Given the description of an element on the screen output the (x, y) to click on. 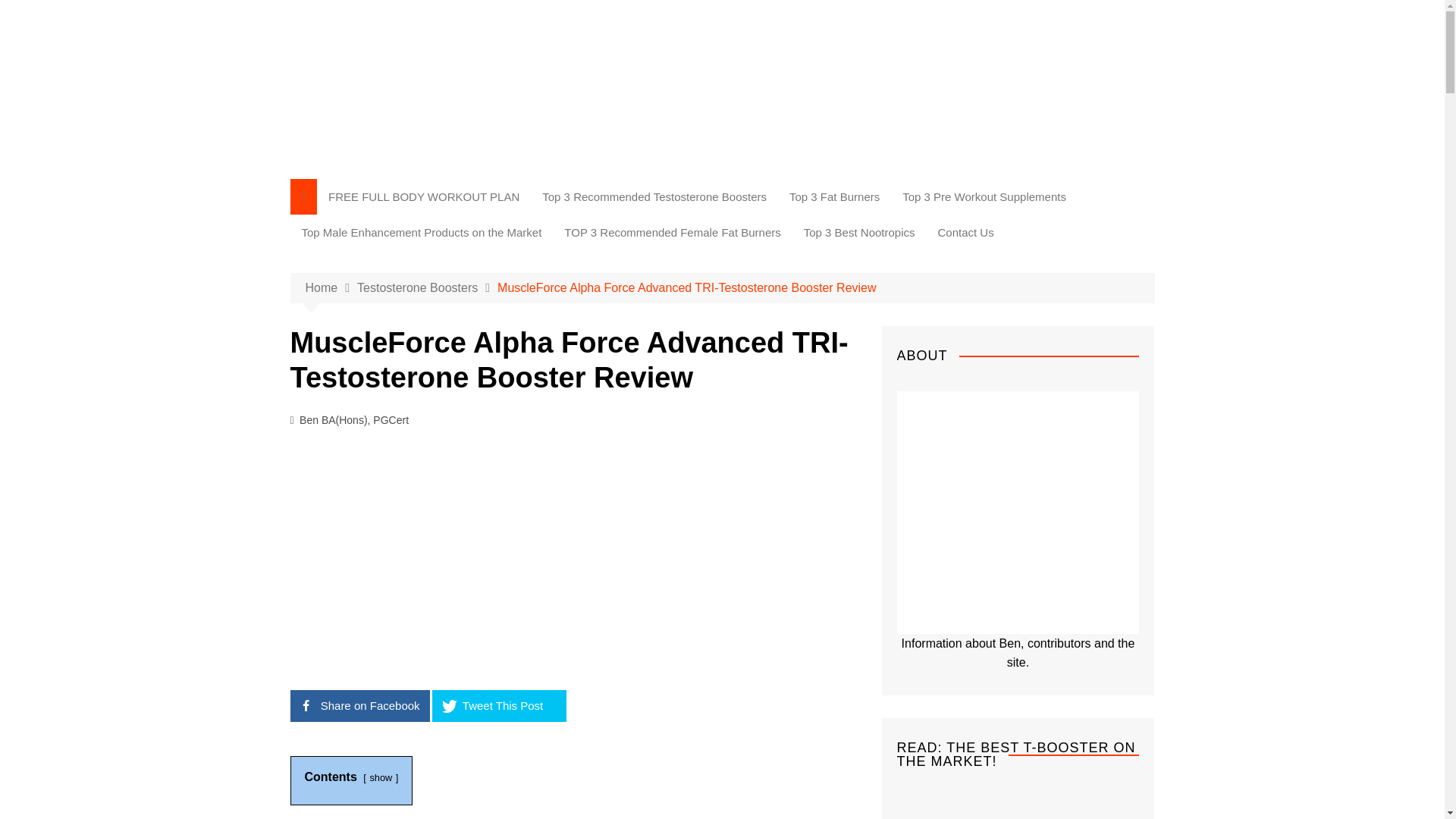
show (380, 777)
Contact Us (966, 232)
TOP 3 Recommended Female Fat Burners (672, 232)
Share on Facebook (359, 705)
Top Male Enhancement Products on the Market (421, 232)
Testosterone Boosters (426, 288)
FREE FULL BODY WORKOUT PLAN (424, 196)
Top 3 Fat Burners (834, 196)
Home (330, 288)
Tweet This Post (499, 705)
